Given the description of an element on the screen output the (x, y) to click on. 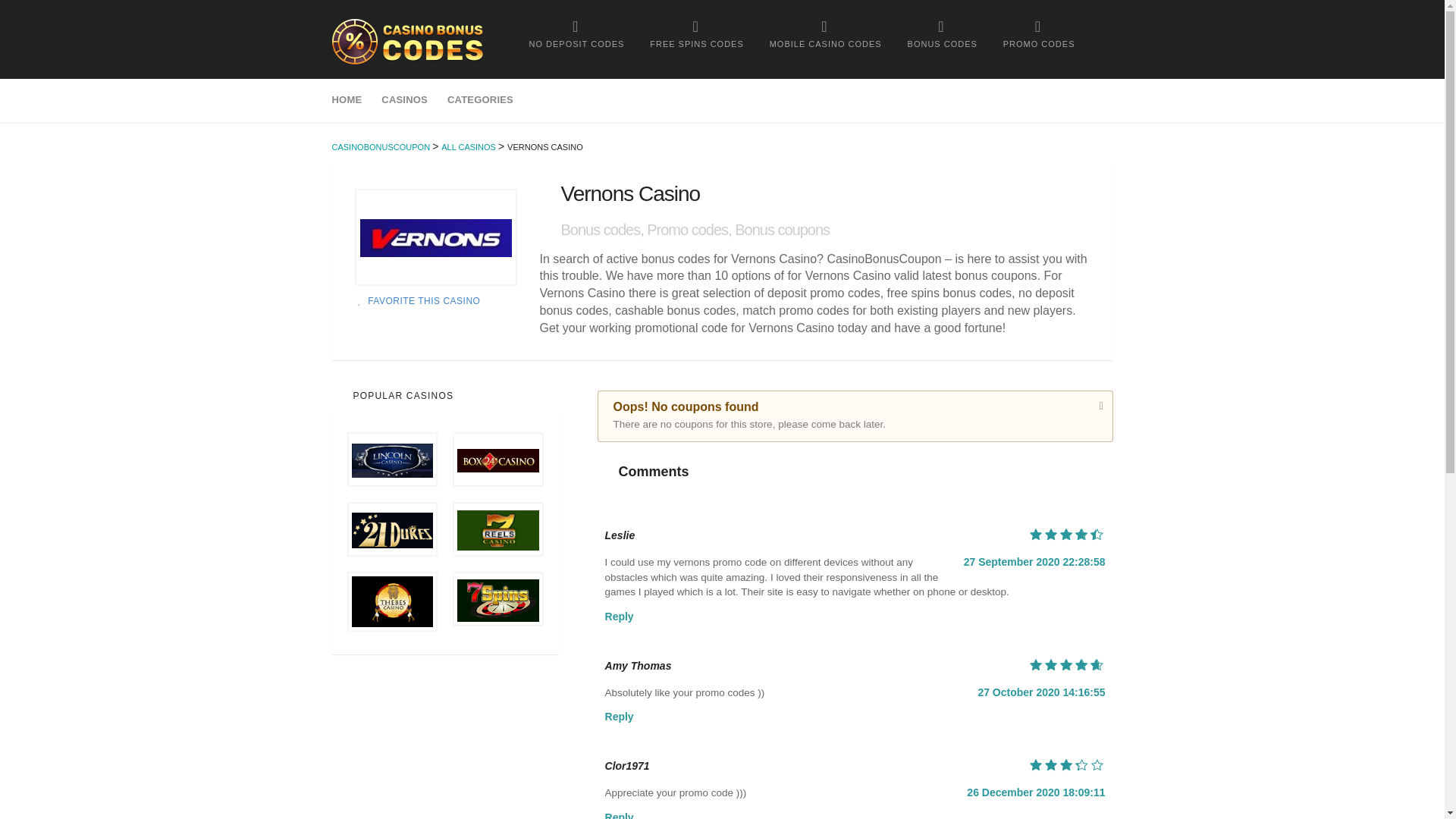
7spins-1-1 (497, 600)
7reels-5 (497, 530)
thebes-5 (392, 601)
CATEGORIES (480, 100)
21-dukes-1 (392, 529)
CasinoBonusCoupon (407, 40)
FAVORITE THIS CASINO (417, 300)
MOBILE CASINO CODES (826, 33)
NO DEPOSIT CODES (576, 33)
box24-5 (497, 459)
Vernons Casino (435, 237)
CASINOS (404, 100)
HOME (351, 100)
All casinos (469, 146)
vernons-1 (435, 238)
